Given the description of an element on the screen output the (x, y) to click on. 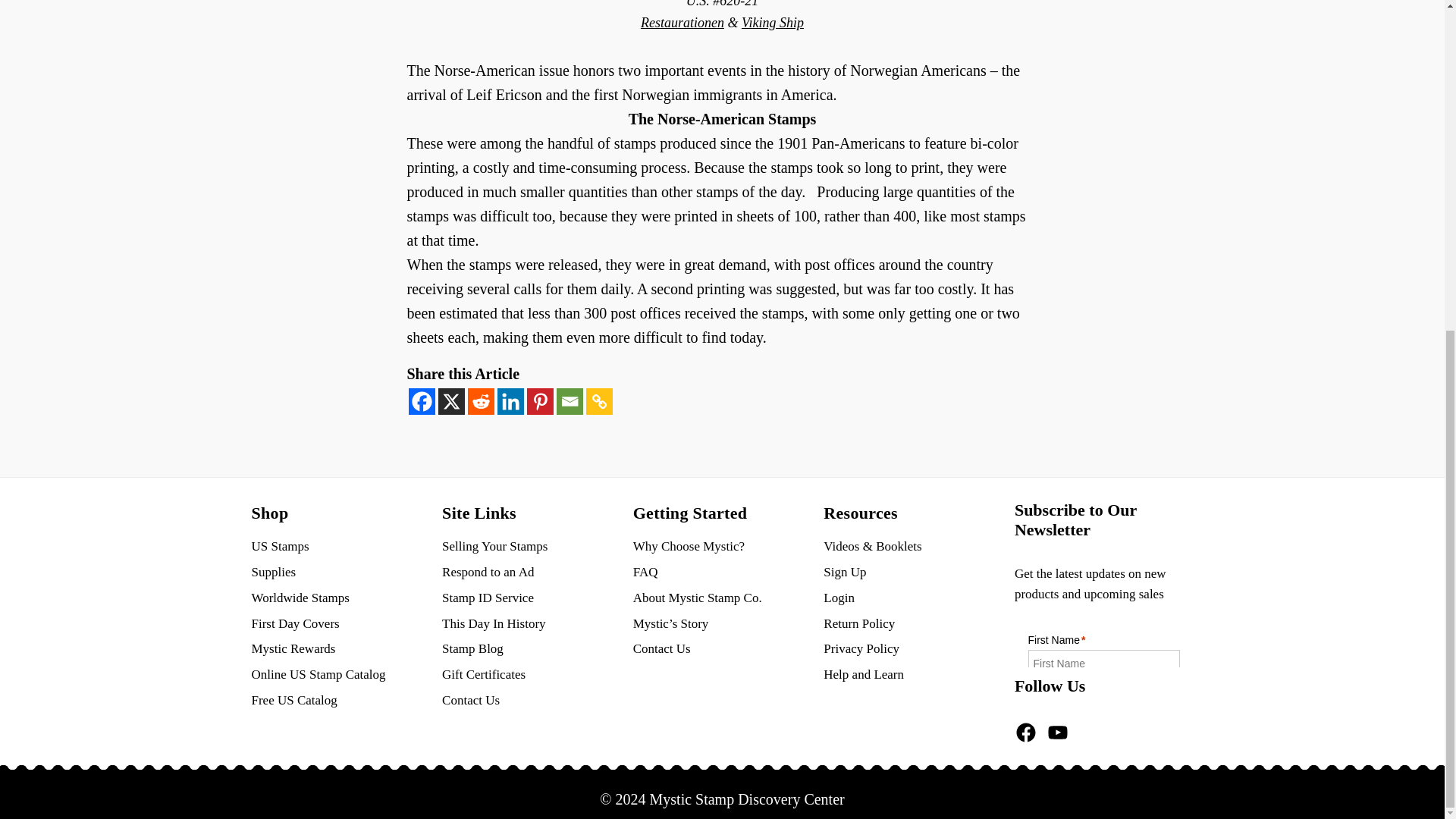
Reddit (480, 401)
Email (569, 401)
Copy Link (598, 401)
X (451, 401)
Pinterest (539, 401)
Facebook (420, 401)
Linkedin (510, 401)
